Given the description of an element on the screen output the (x, y) to click on. 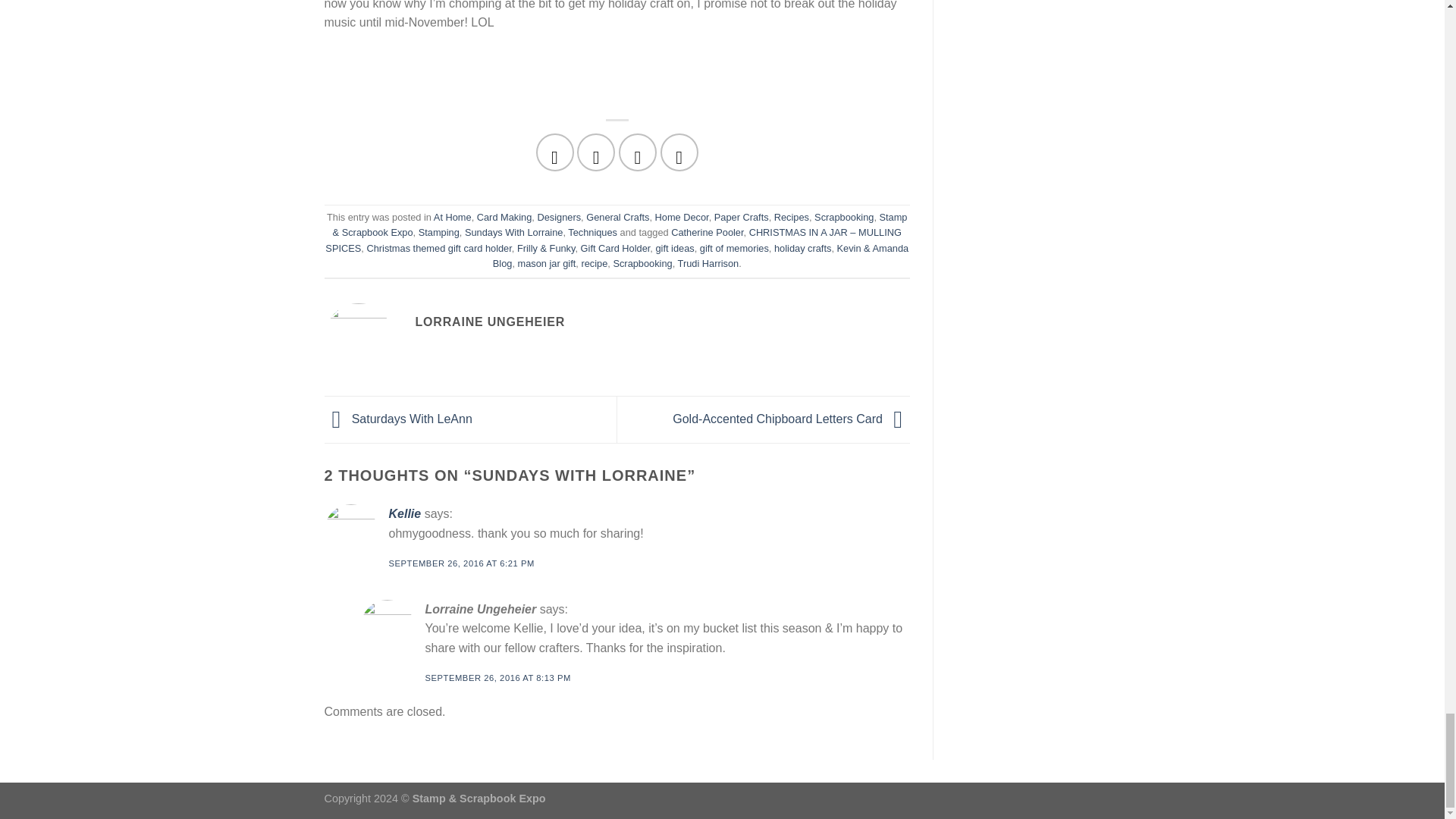
Email to a Friend (637, 151)
Share on Twitter (595, 151)
Share on Facebook (554, 151)
Pin on Pinterest (679, 151)
